Given the description of an element on the screen output the (x, y) to click on. 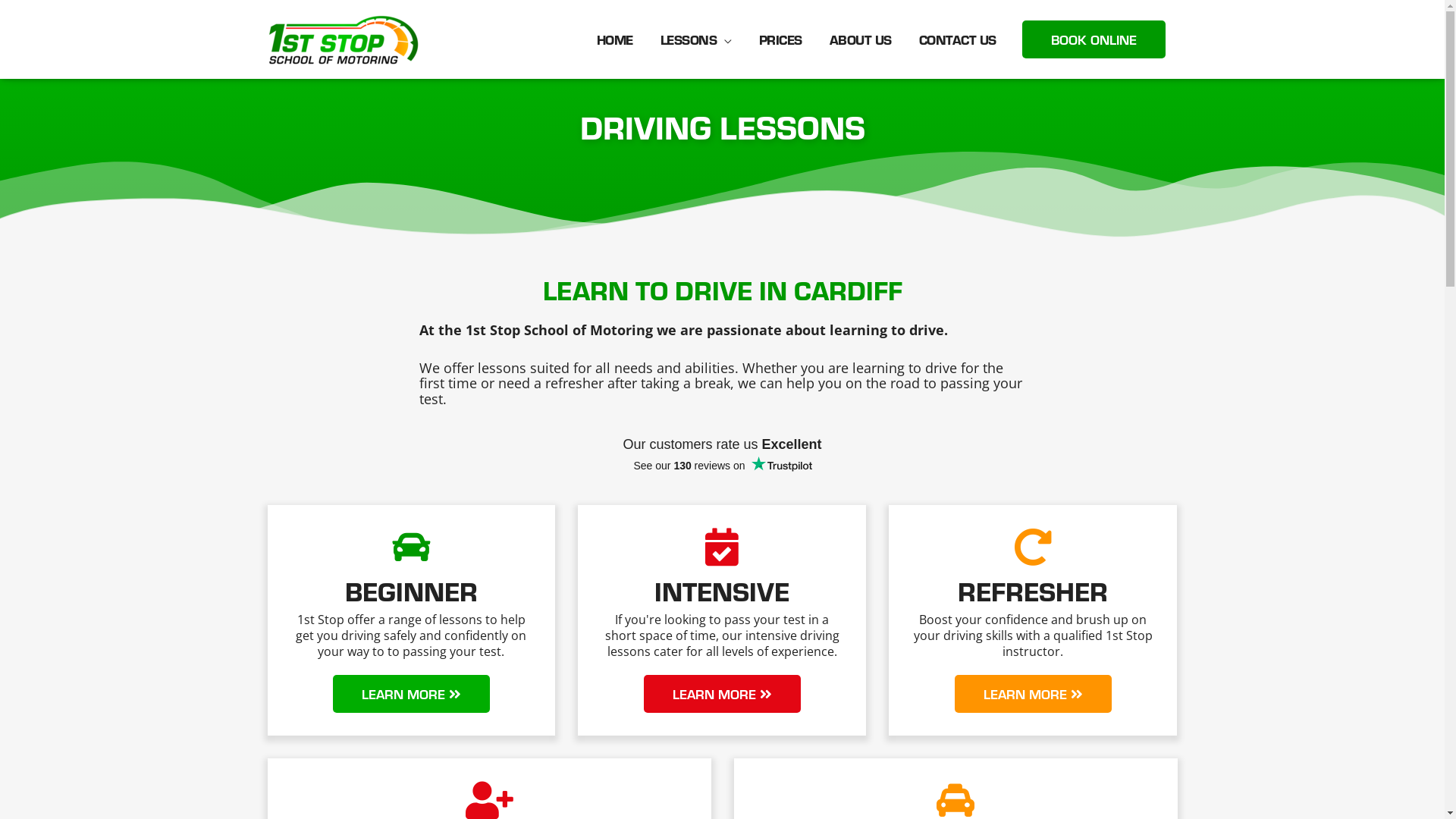
ABOUT US Element type: text (860, 39)
PRICES Element type: text (779, 39)
LEARN MORE Element type: text (721, 693)
BOOK ONLINE Element type: text (1093, 39)
BEGINNER Element type: text (411, 589)
HOME Element type: text (614, 39)
Our customers rate us Excellent Element type: text (721, 443)
LESSONS Element type: text (695, 39)
Customer reviews powered by Trustpilot Element type: hover (721, 465)
LEARN MORE Element type: text (410, 693)
INTENSIVE Element type: text (721, 589)
REFRESHER Element type: text (1032, 589)
LEARN MORE Element type: text (1032, 693)
CONTACT US Element type: text (957, 39)
